Given the description of an element on the screen output the (x, y) to click on. 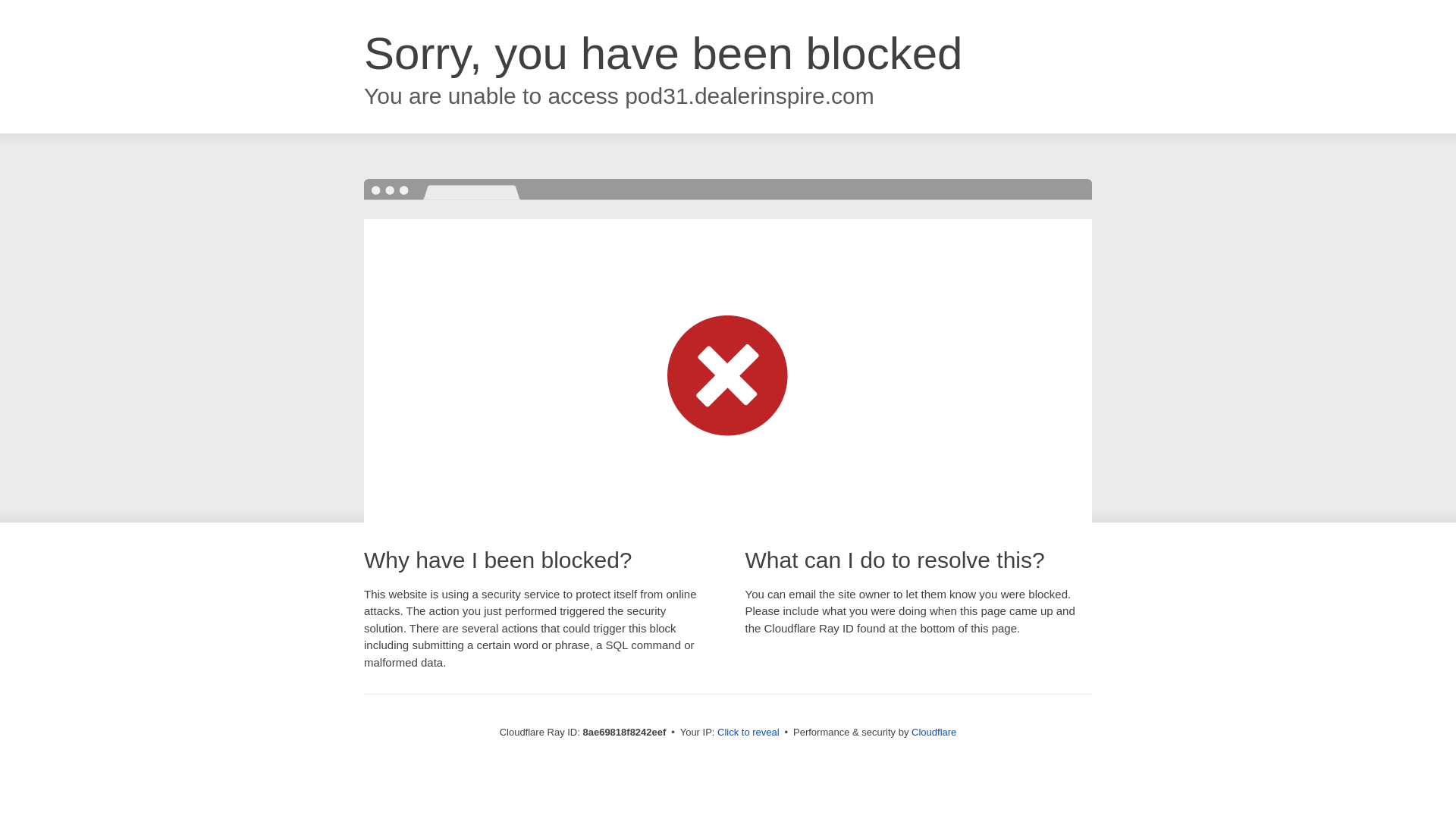
Click to reveal (747, 732)
Cloudflare (933, 731)
